Given the description of an element on the screen output the (x, y) to click on. 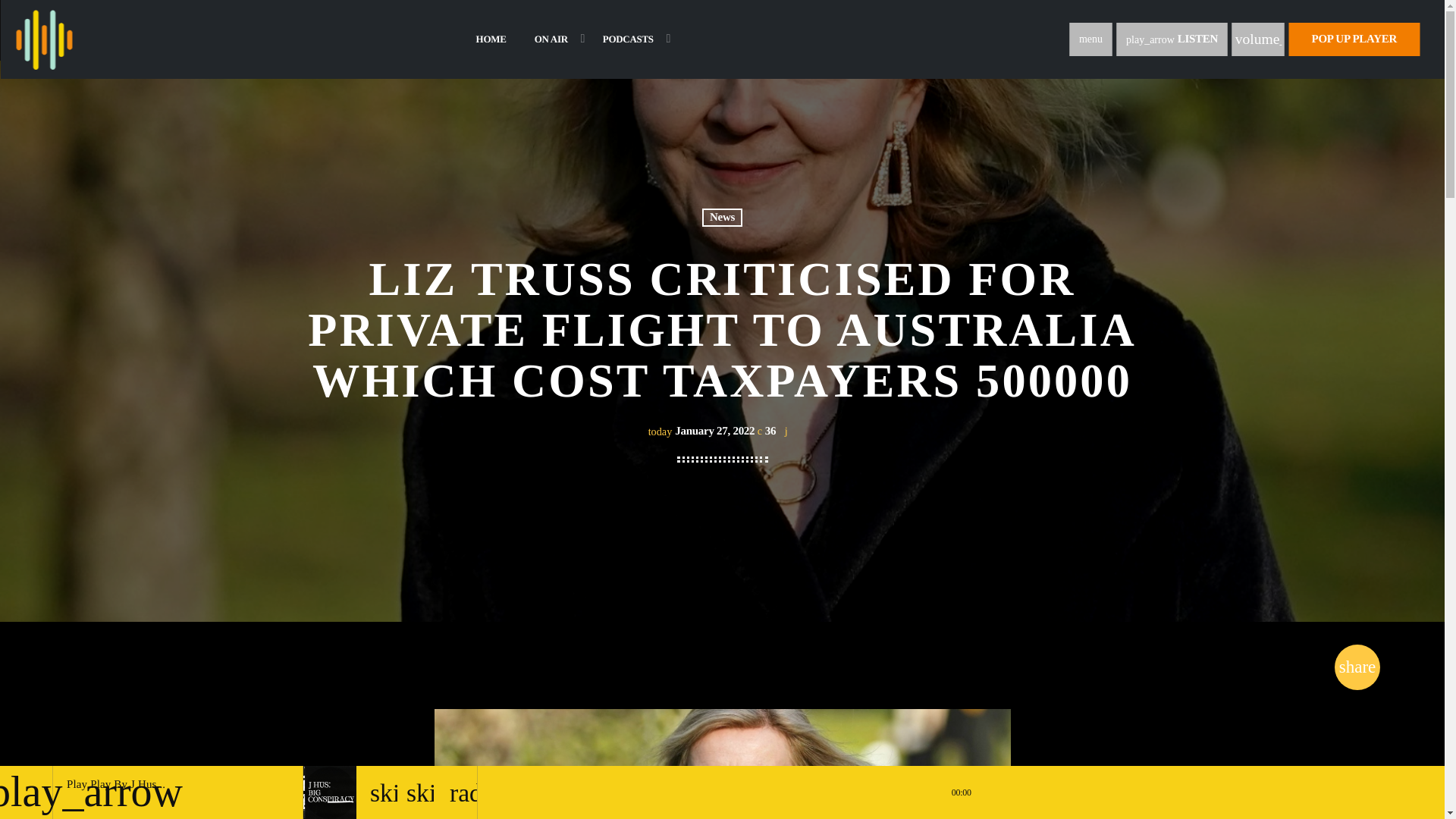
POP UP PLAYER (1353, 39)
ON AIR (553, 39)
PODCASTS (631, 39)
menu (1090, 39)
HOME (490, 39)
radio (460, 792)
